Given the description of an element on the screen output the (x, y) to click on. 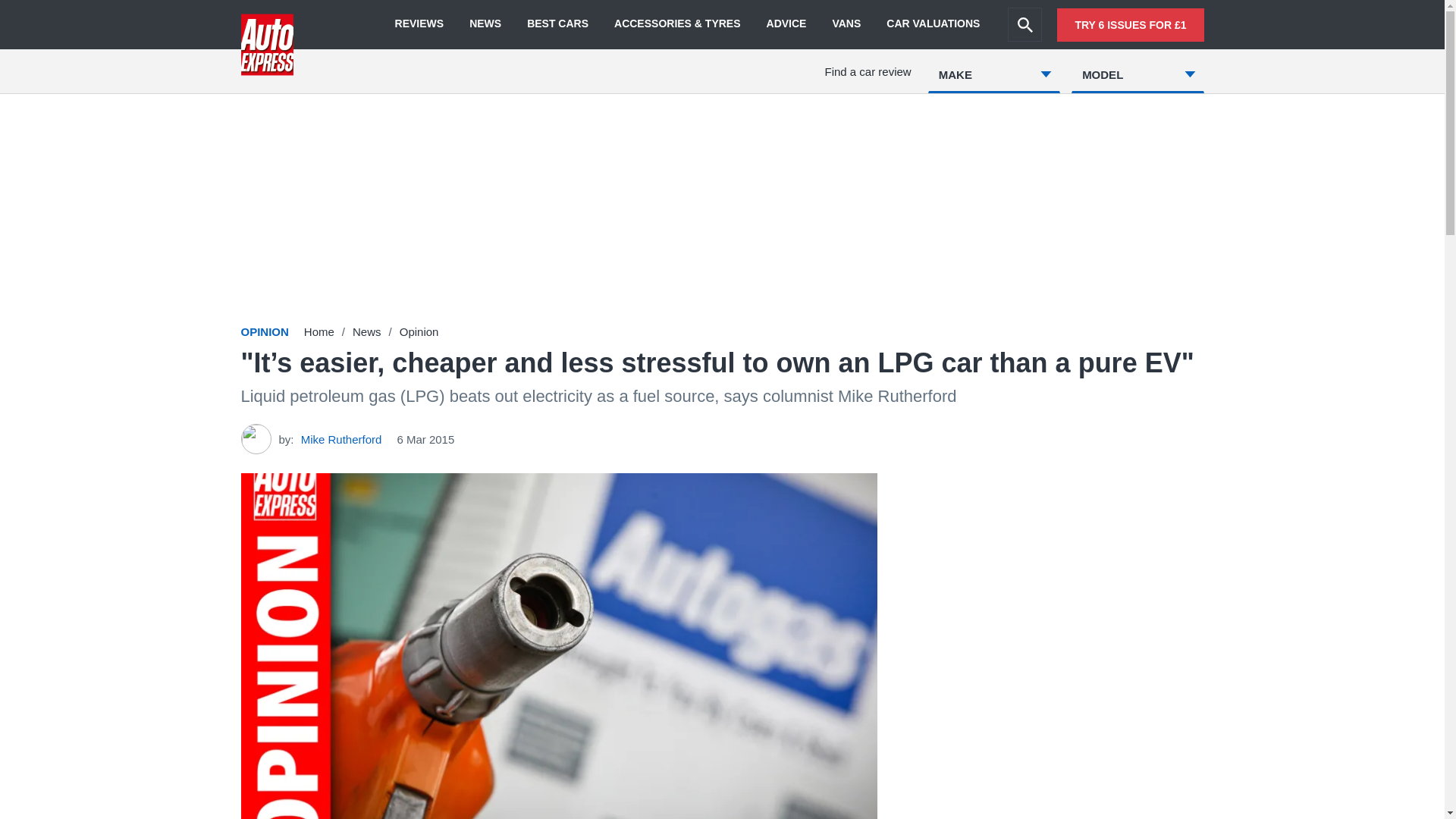
CAR VALUATIONS (932, 24)
ADVICE (786, 24)
Search (1024, 24)
VANS (845, 24)
BEST CARS (557, 24)
REVIEWS (419, 24)
NEWS (485, 24)
Search (1024, 24)
